Given the description of an element on the screen output the (x, y) to click on. 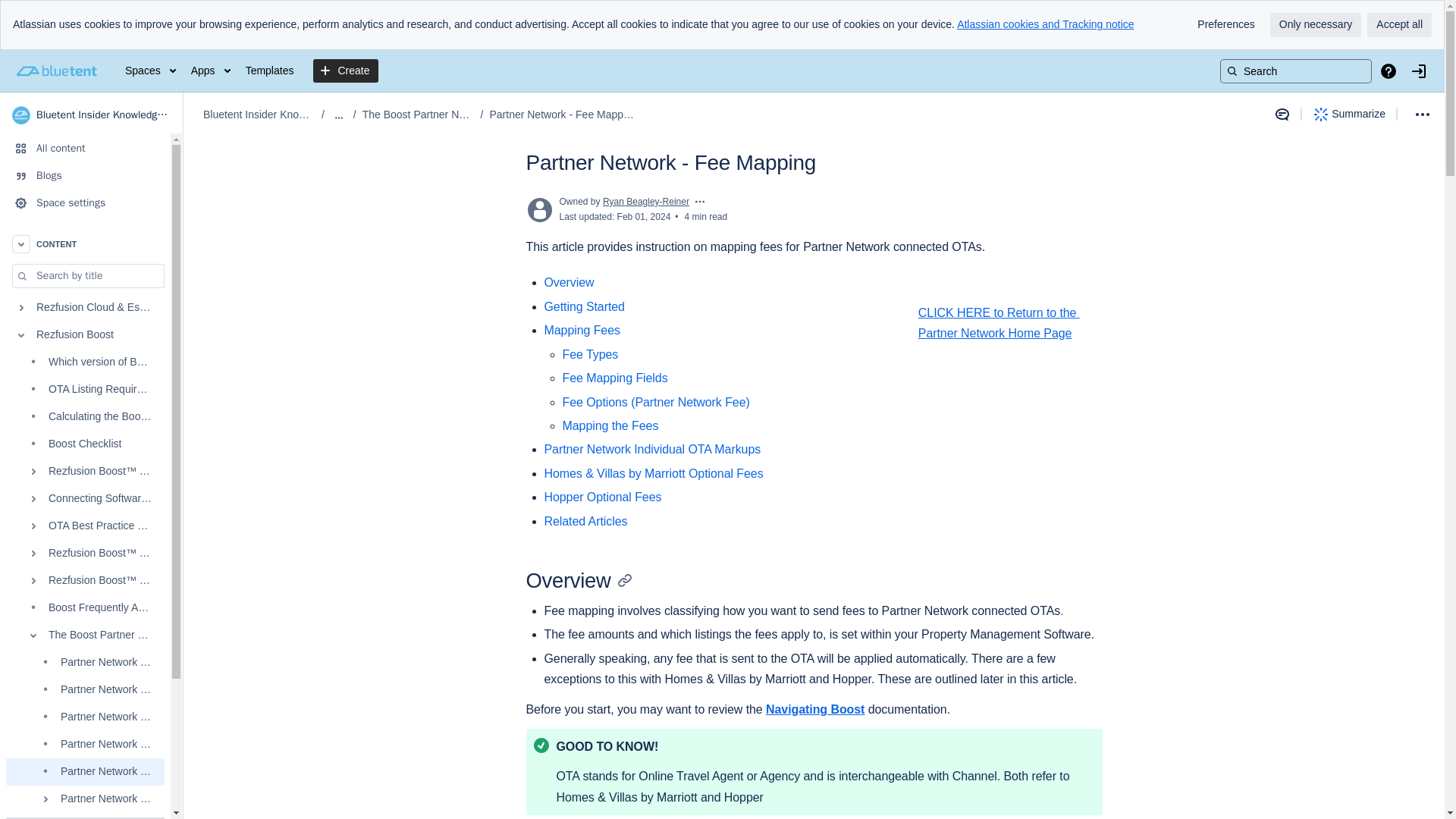
OTA Best Practice Guide (84, 525)
Accept all (1399, 24)
Preferences (1225, 24)
Spaces (150, 70)
Only necessary (1315, 24)
Bluetent Insider Knowledge Base (90, 114)
All content (84, 148)
Blogs (84, 175)
Space settings (84, 203)
Rezfusion Boost (84, 334)
The Boost Partner Network - Overview (84, 635)
Create (345, 70)
Templates (269, 70)
Atlassian cookies and Tracking notice (1045, 24)
CONTENT (84, 243)
